Given the description of an element on the screen output the (x, y) to click on. 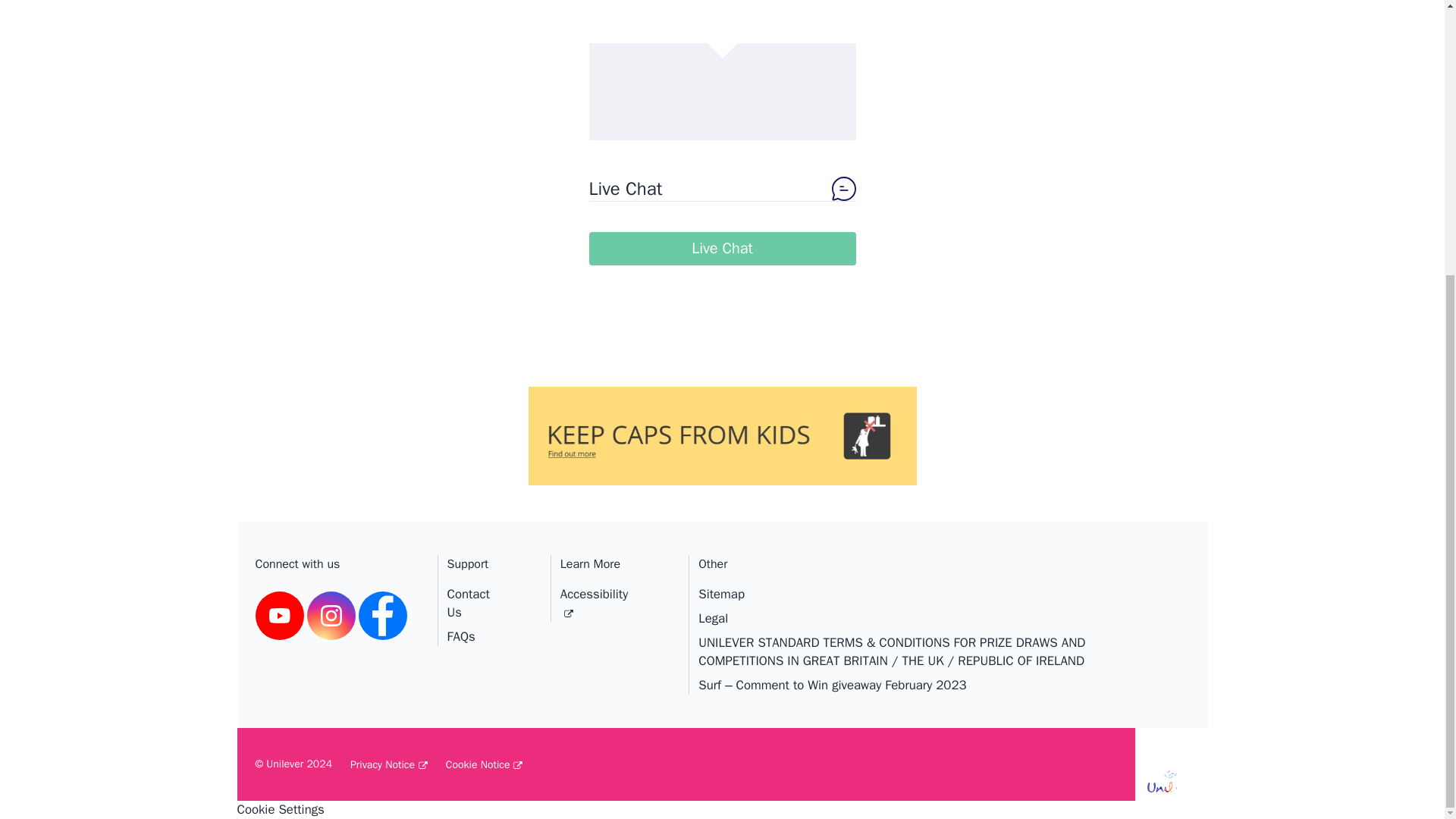
Legal (928, 621)
Instagram (330, 615)
Opens in new tab (389, 764)
Keep Caps from Kids (721, 407)
Sitemap (928, 597)
Opens in new tab (278, 615)
Live Chat (722, 248)
Opens in new tab (483, 764)
Facebook (382, 615)
Opens in new tab (593, 602)
Contact Us (467, 607)
Accessibility (593, 602)
FAQs (461, 636)
Privacy Notice (389, 764)
YouTube (278, 615)
